Given the description of an element on the screen output the (x, y) to click on. 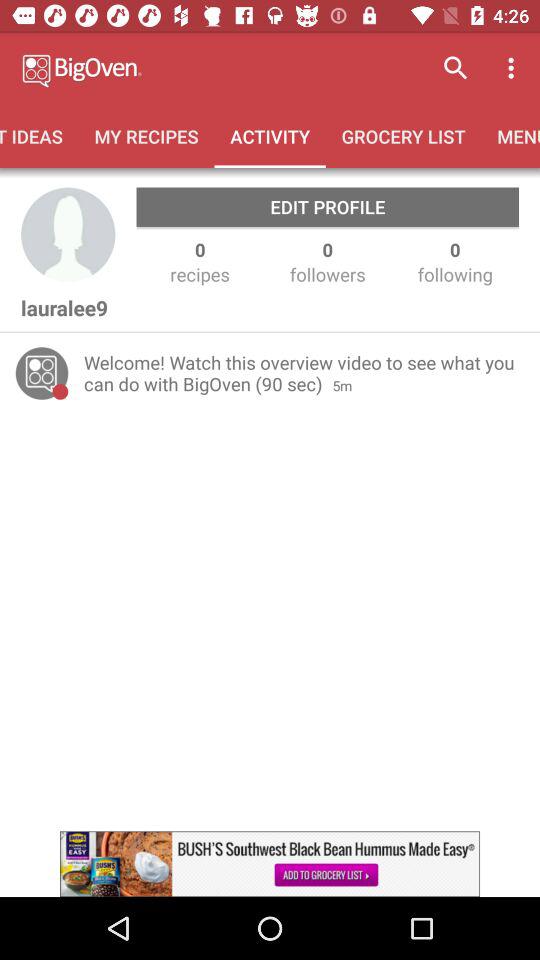
advertisement page (270, 864)
